Given the description of an element on the screen output the (x, y) to click on. 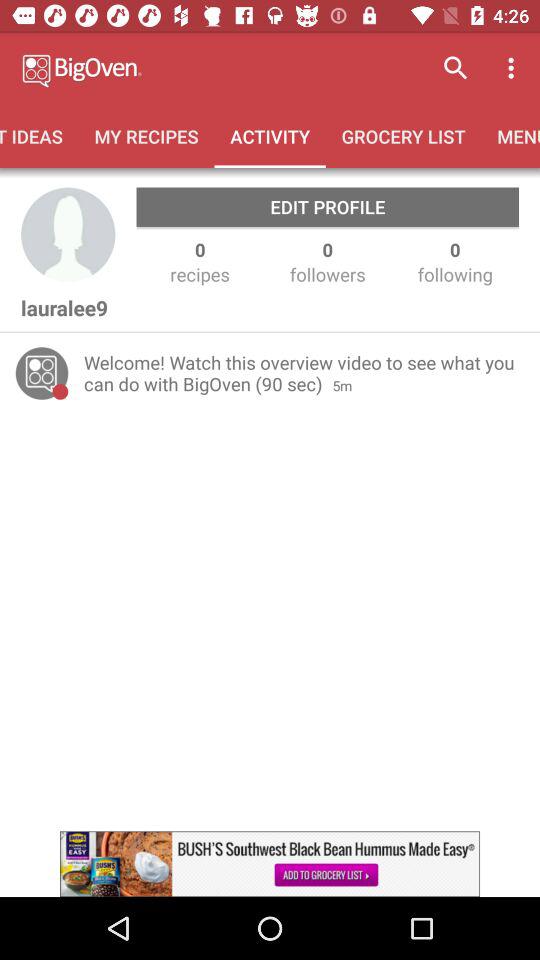
advertisement page (270, 864)
